Given the description of an element on the screen output the (x, y) to click on. 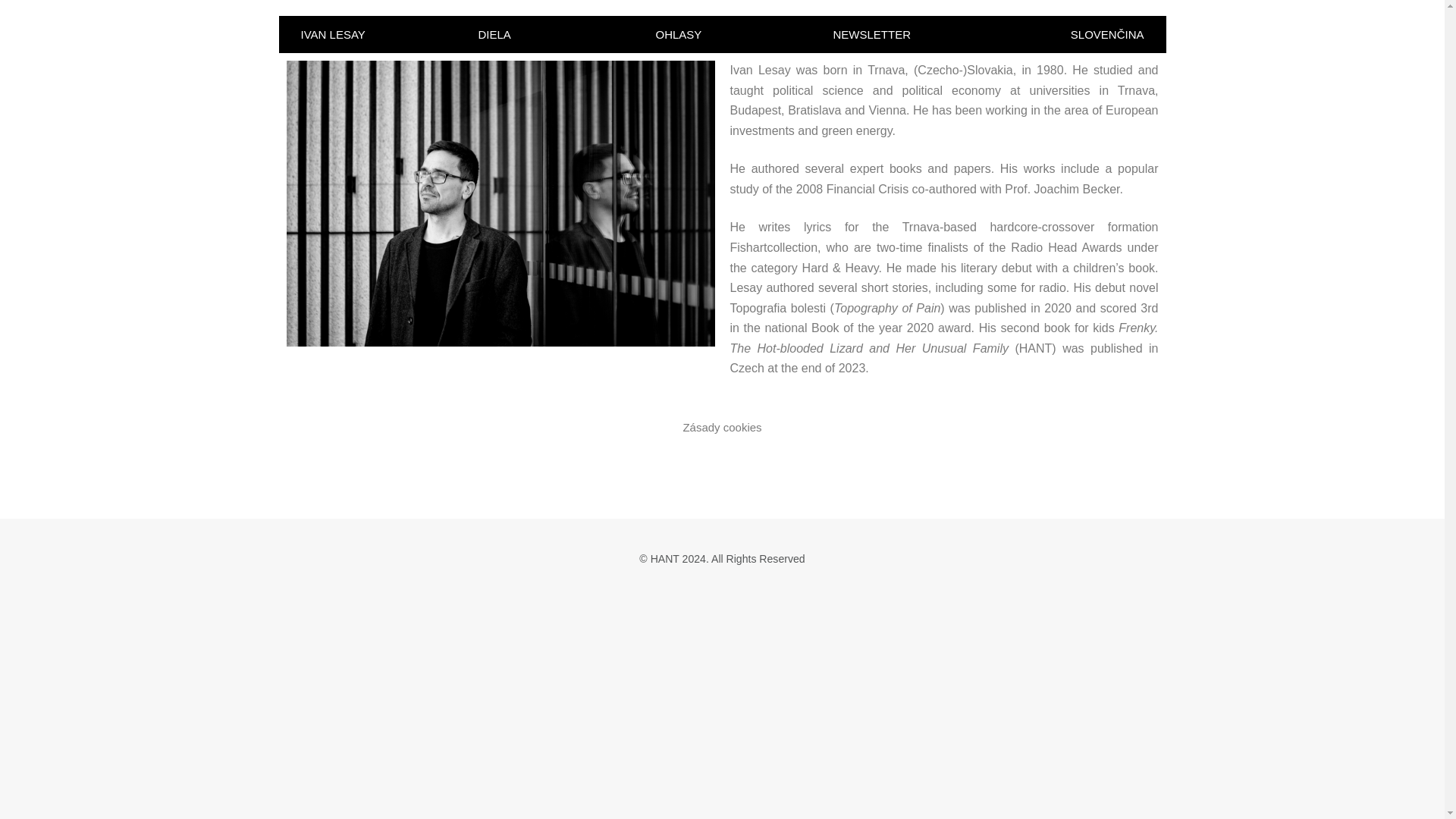
DIELA (494, 34)
IVAN LESAY (332, 34)
OHLASY (678, 34)
NEWSLETTER (870, 34)
